Given the description of an element on the screen output the (x, y) to click on. 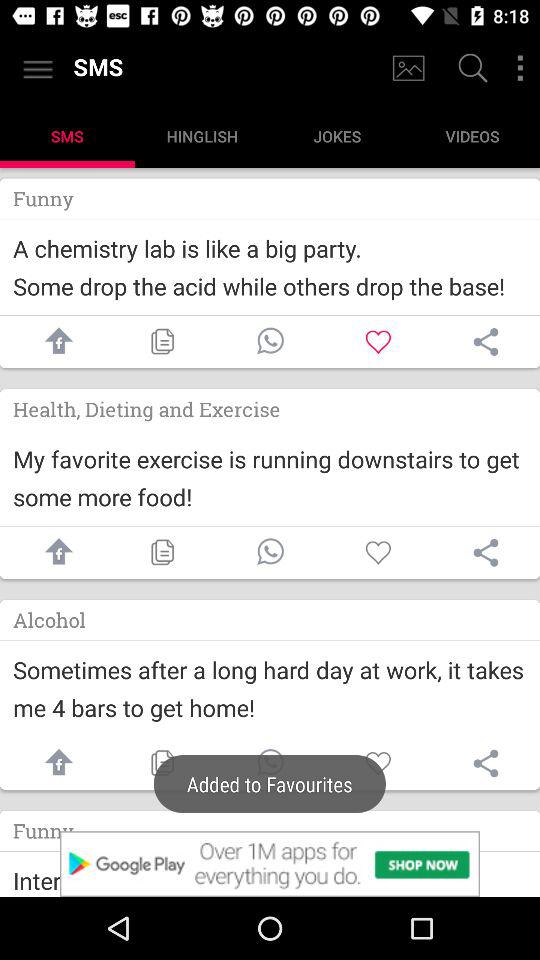
like button (378, 341)
